Given the description of an element on the screen output the (x, y) to click on. 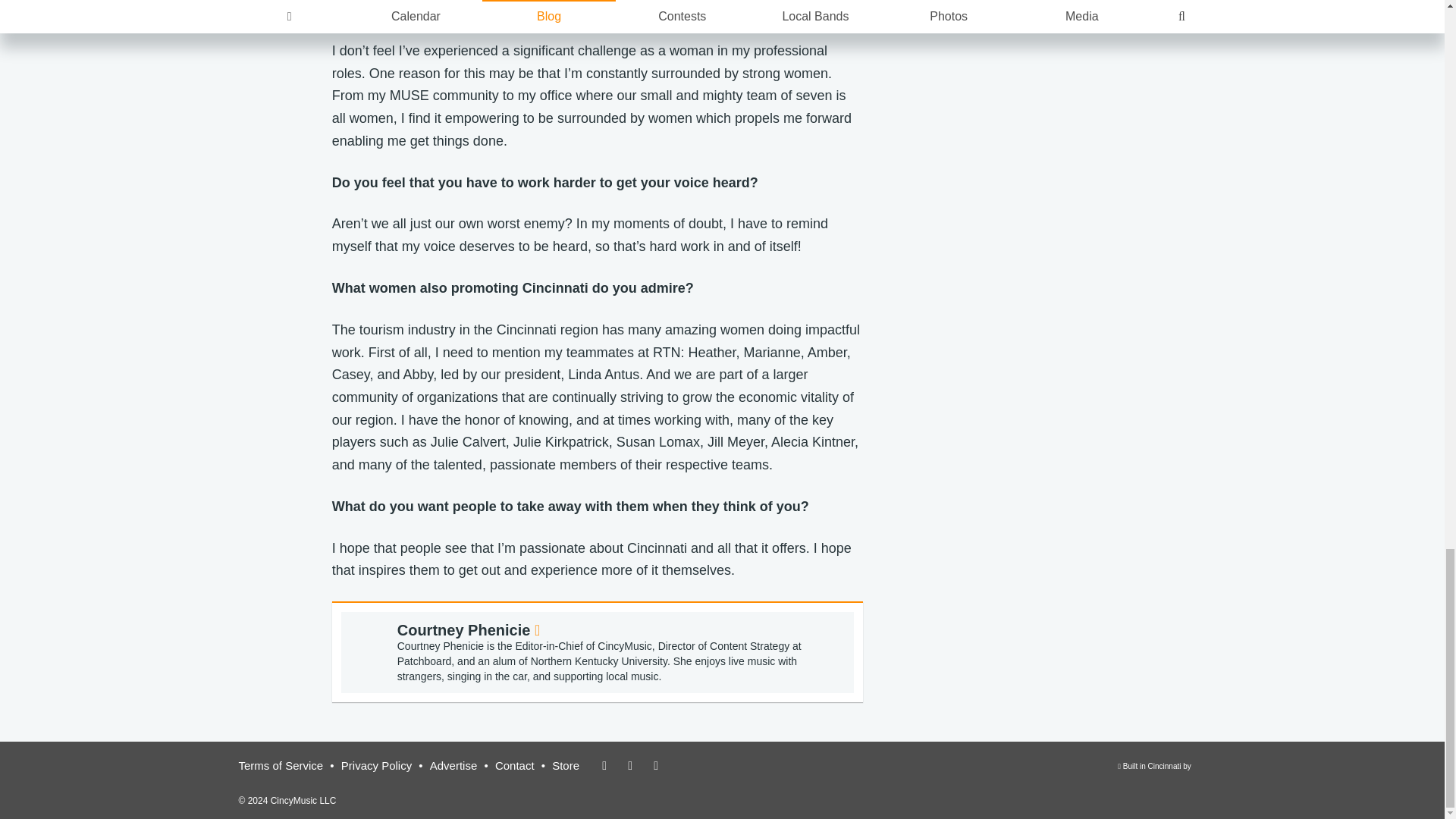
Store (565, 765)
Privacy Policy (1155, 773)
Terms of Service (376, 765)
Contact (280, 765)
Advertise (514, 765)
Courtney Phenicie  (453, 765)
